Given the description of an element on the screen output the (x, y) to click on. 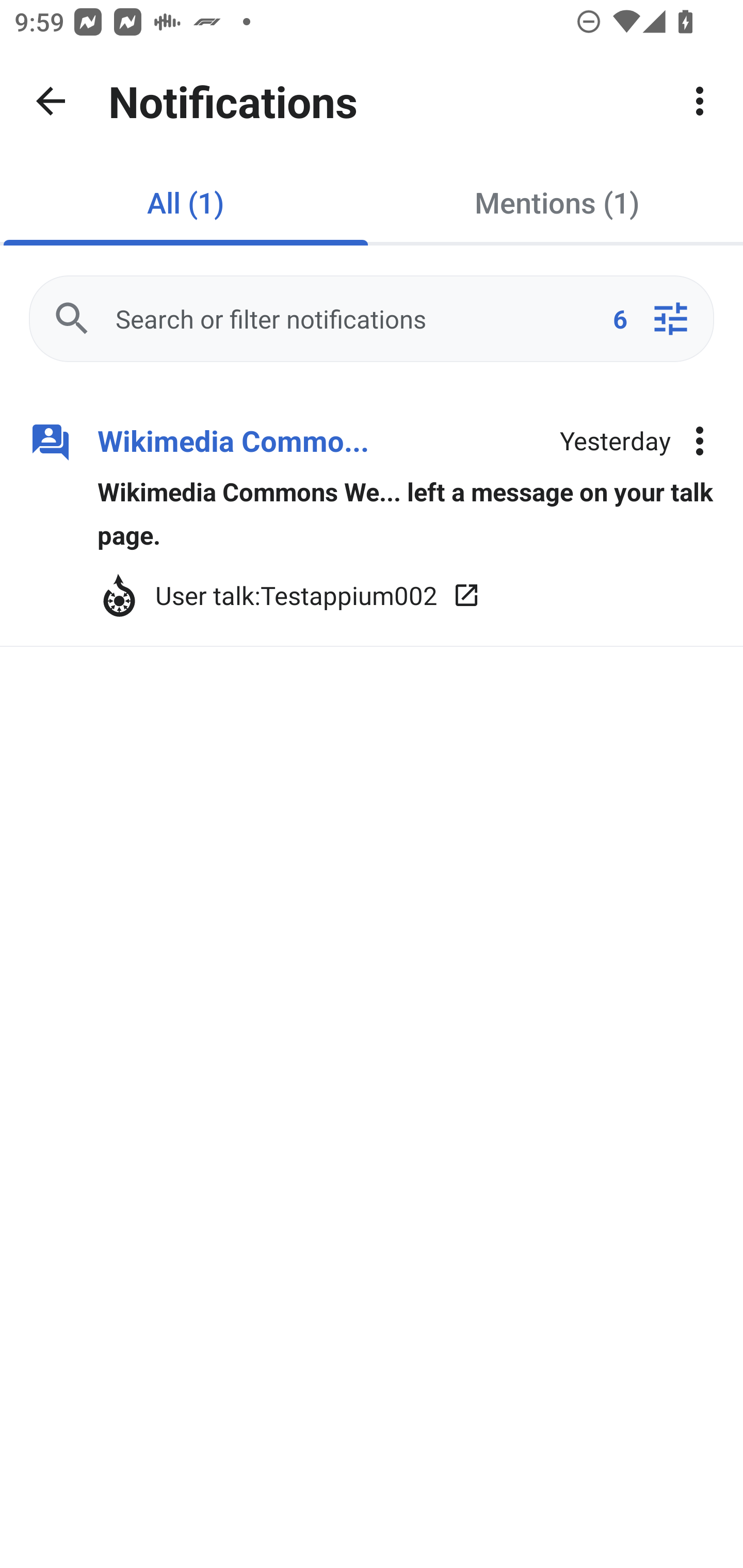
Navigate up (50, 101)
More (699, 101)
Mentions (1) (557, 202)
Notification filter (670, 318)
More options (699, 441)
